Given the description of an element on the screen output the (x, y) to click on. 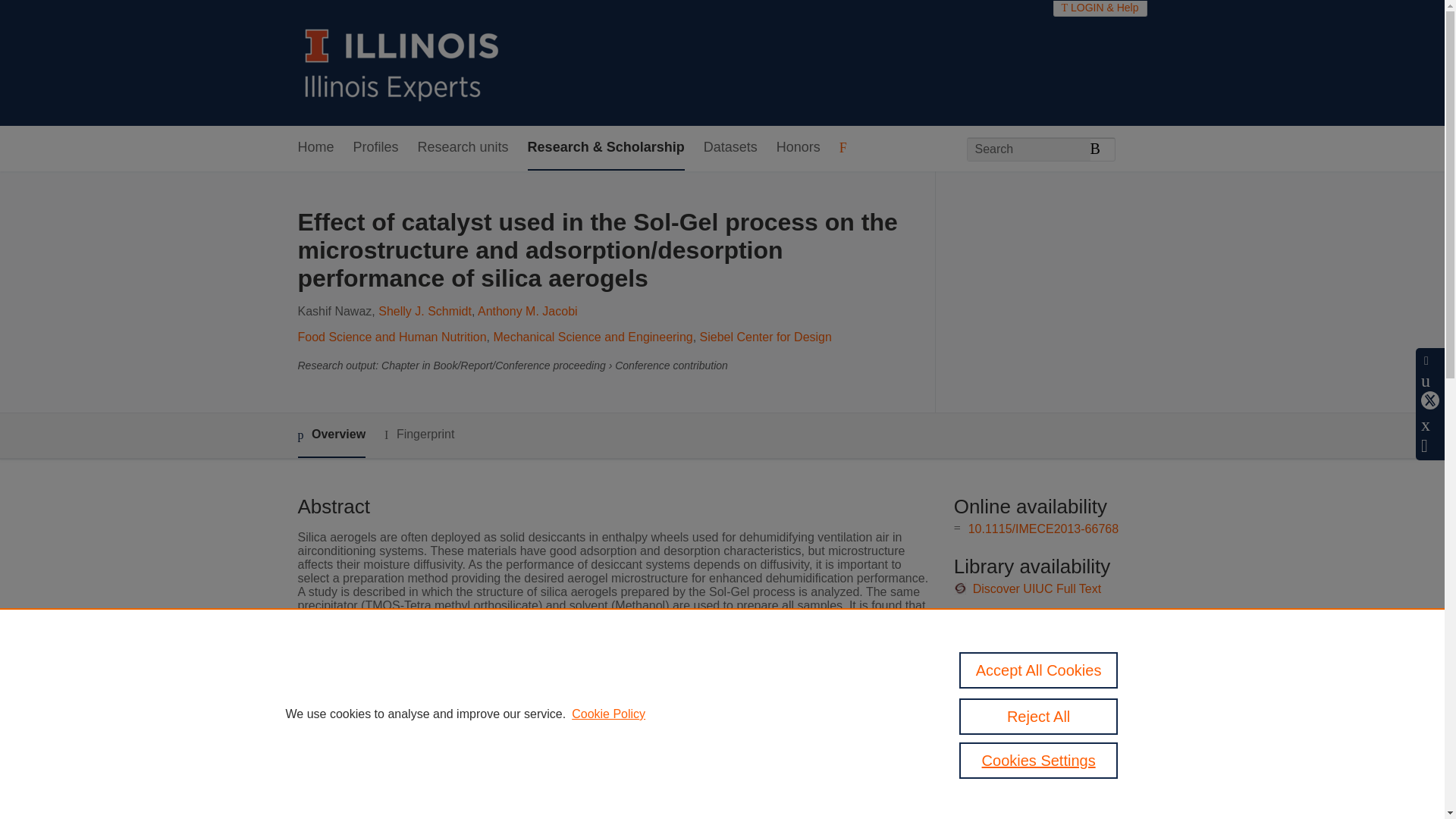
Link to the citations in Scopus (1048, 666)
Profiles (375, 148)
Mechanical Science and Engineering (593, 336)
Anthony M. Jacobi (527, 310)
Overview (331, 435)
Discover UIUC Full Text (1037, 588)
Honors (798, 148)
Siebel Center for Design (765, 336)
Research units (462, 148)
